Given the description of an element on the screen output the (x, y) to click on. 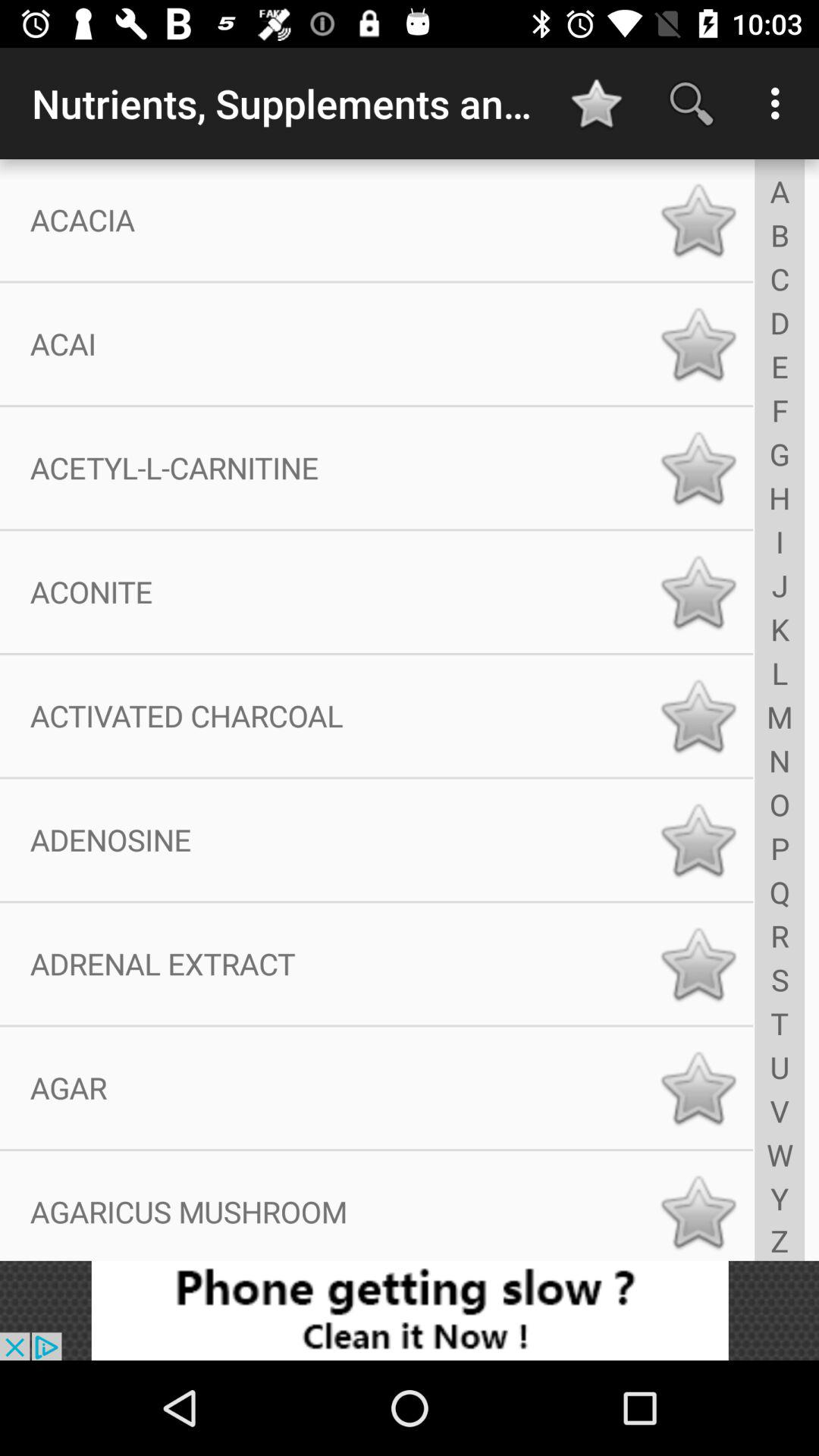
add favorite (697, 220)
